Given the description of an element on the screen output the (x, y) to click on. 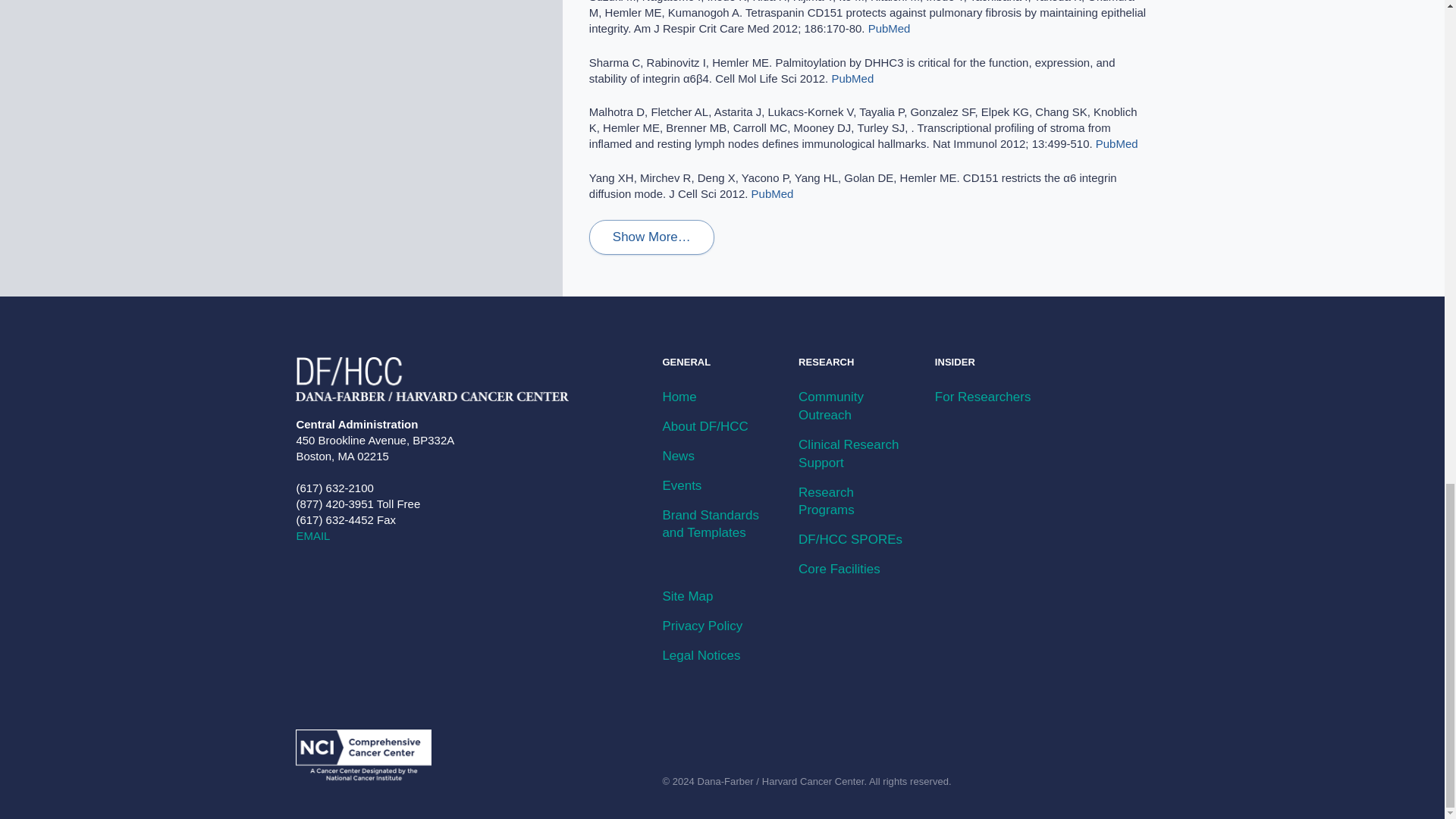
PubMed (772, 193)
PubMed (1117, 143)
PubMed (889, 28)
PubMed (852, 78)
